Given the description of an element on the screen output the (x, y) to click on. 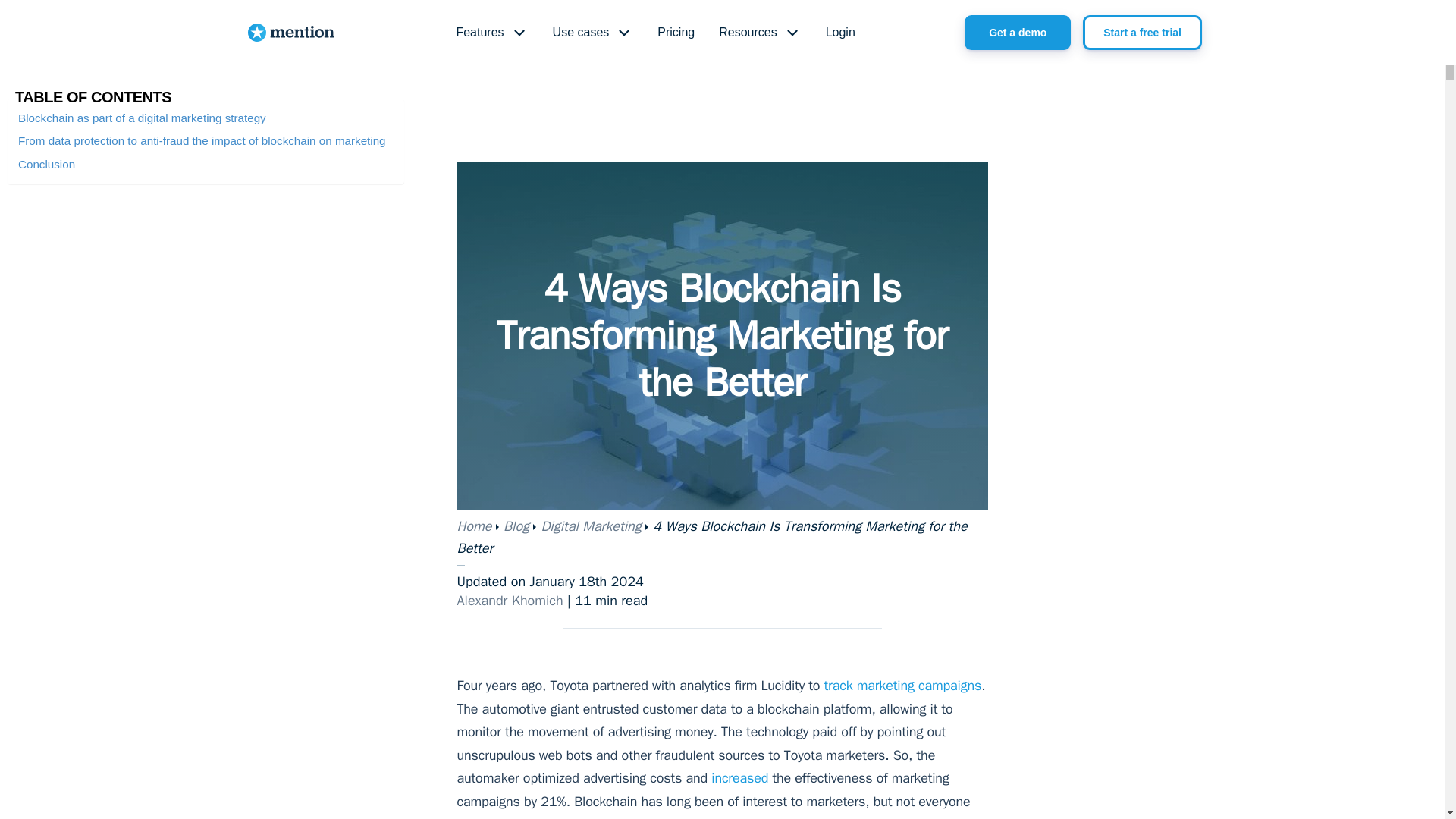
Blockchain as part of a digital marketing strategy (141, 117)
Conclusion (46, 164)
Pricing (675, 33)
